Given the description of an element on the screen output the (x, y) to click on. 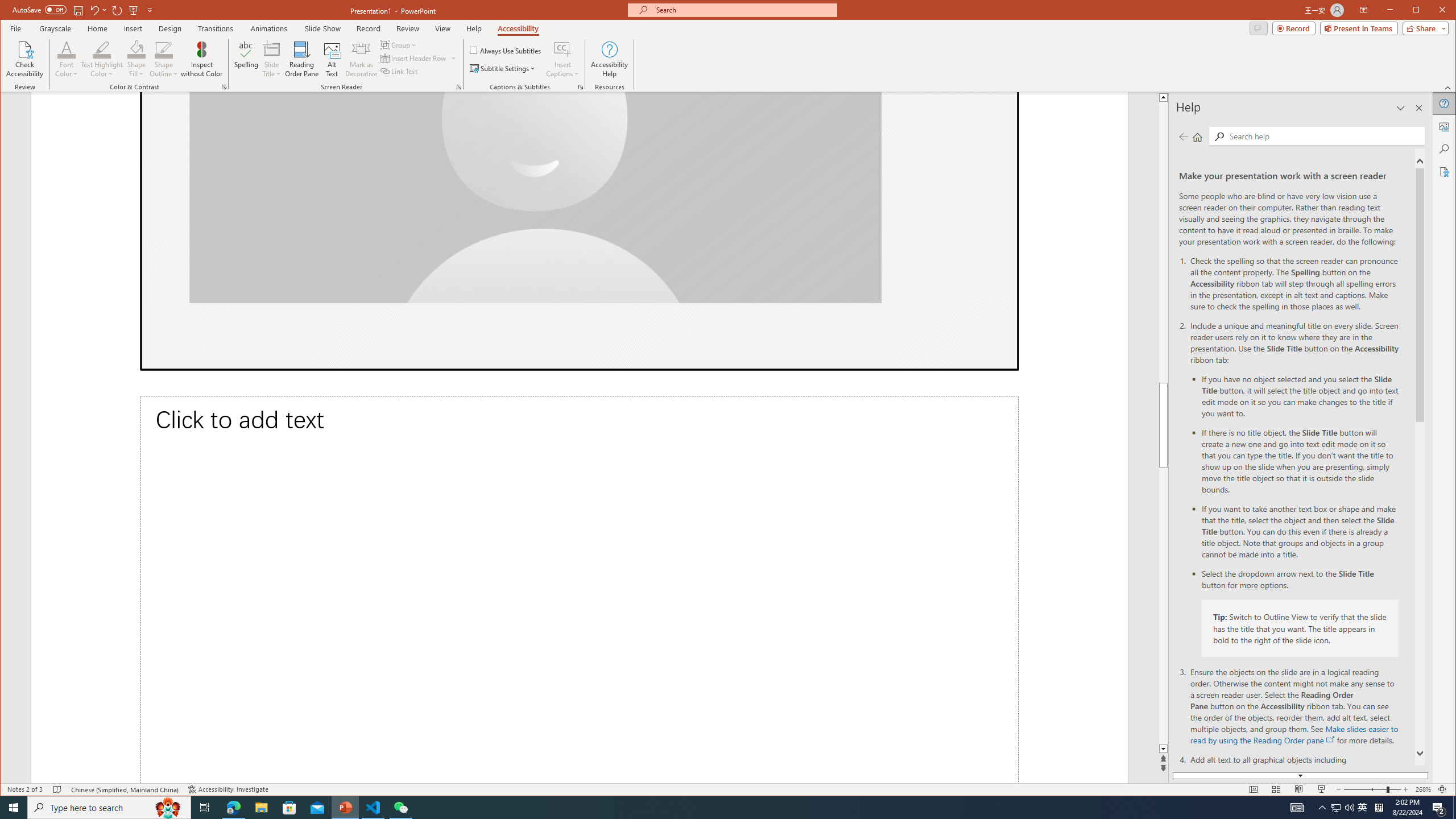
Slide Title (271, 59)
Reading Order Pane (301, 59)
